Given the description of an element on the screen output the (x, y) to click on. 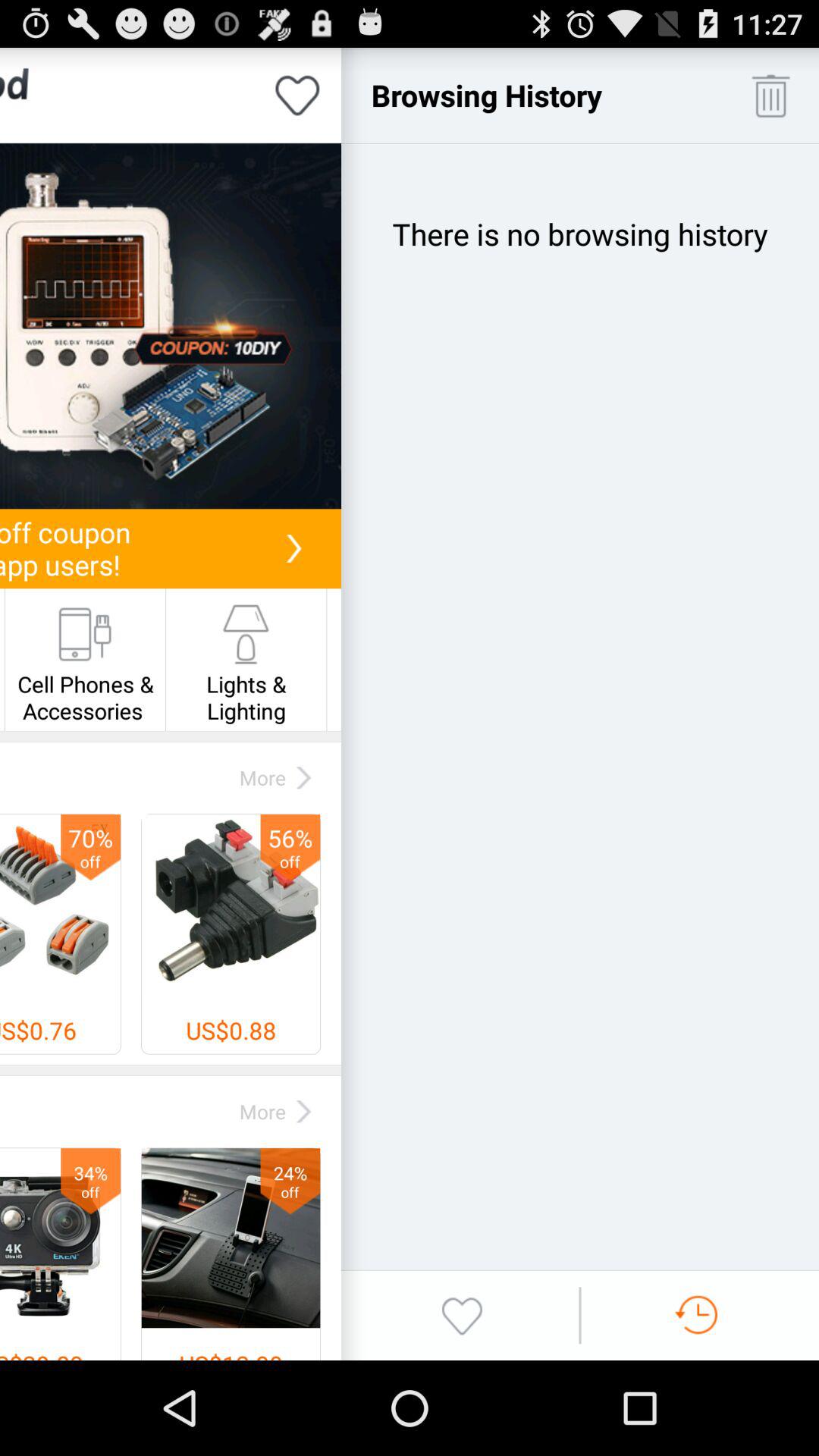
indicate that you like the page (297, 95)
